Given the description of an element on the screen output the (x, y) to click on. 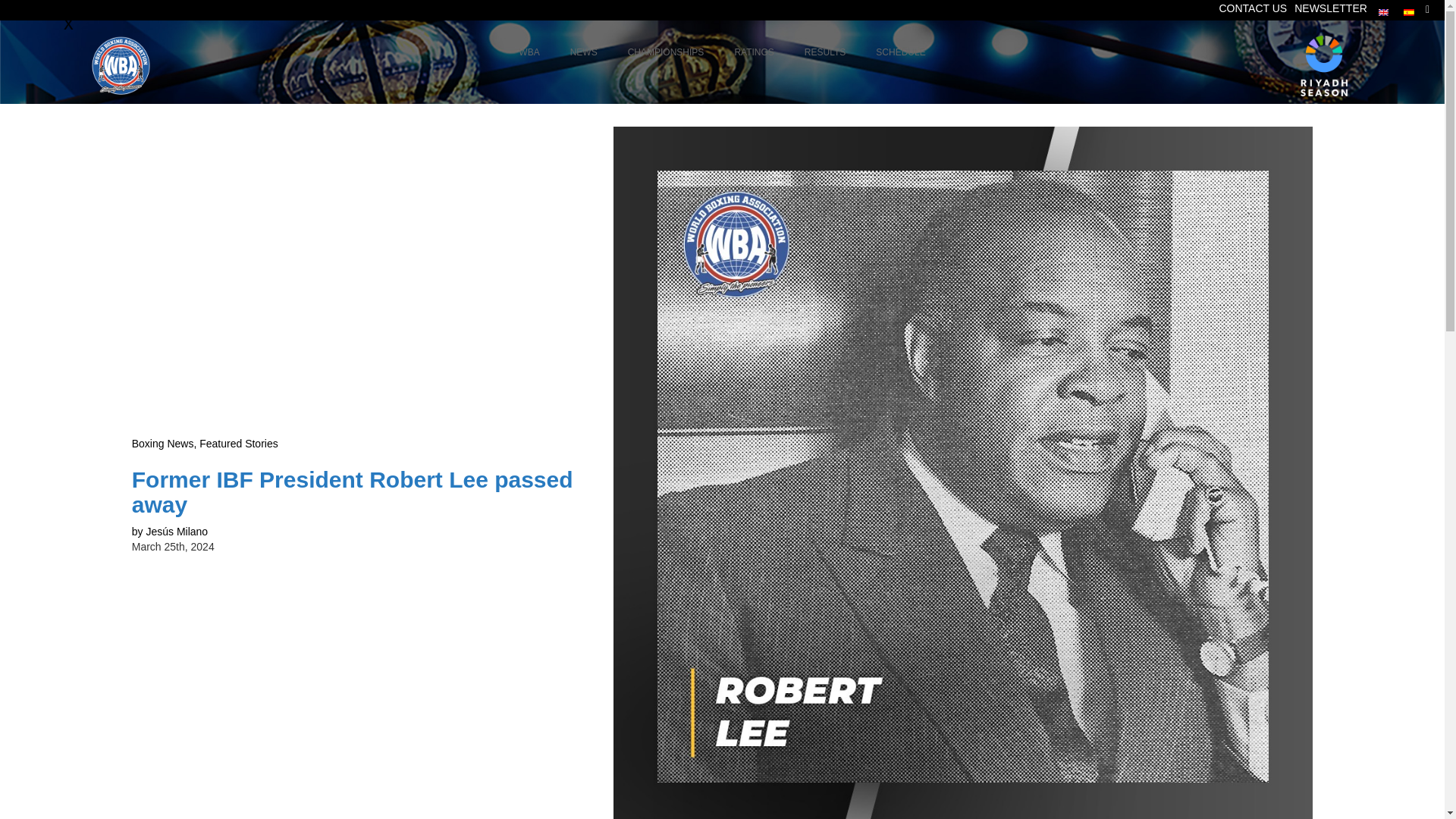
NEWSLETTER (1330, 7)
WBA (528, 53)
CHAMPIONSHIPS (665, 53)
RATINGS (754, 53)
NEWS (721, 53)
CONTACT US (583, 53)
